Given the description of an element on the screen output the (x, y) to click on. 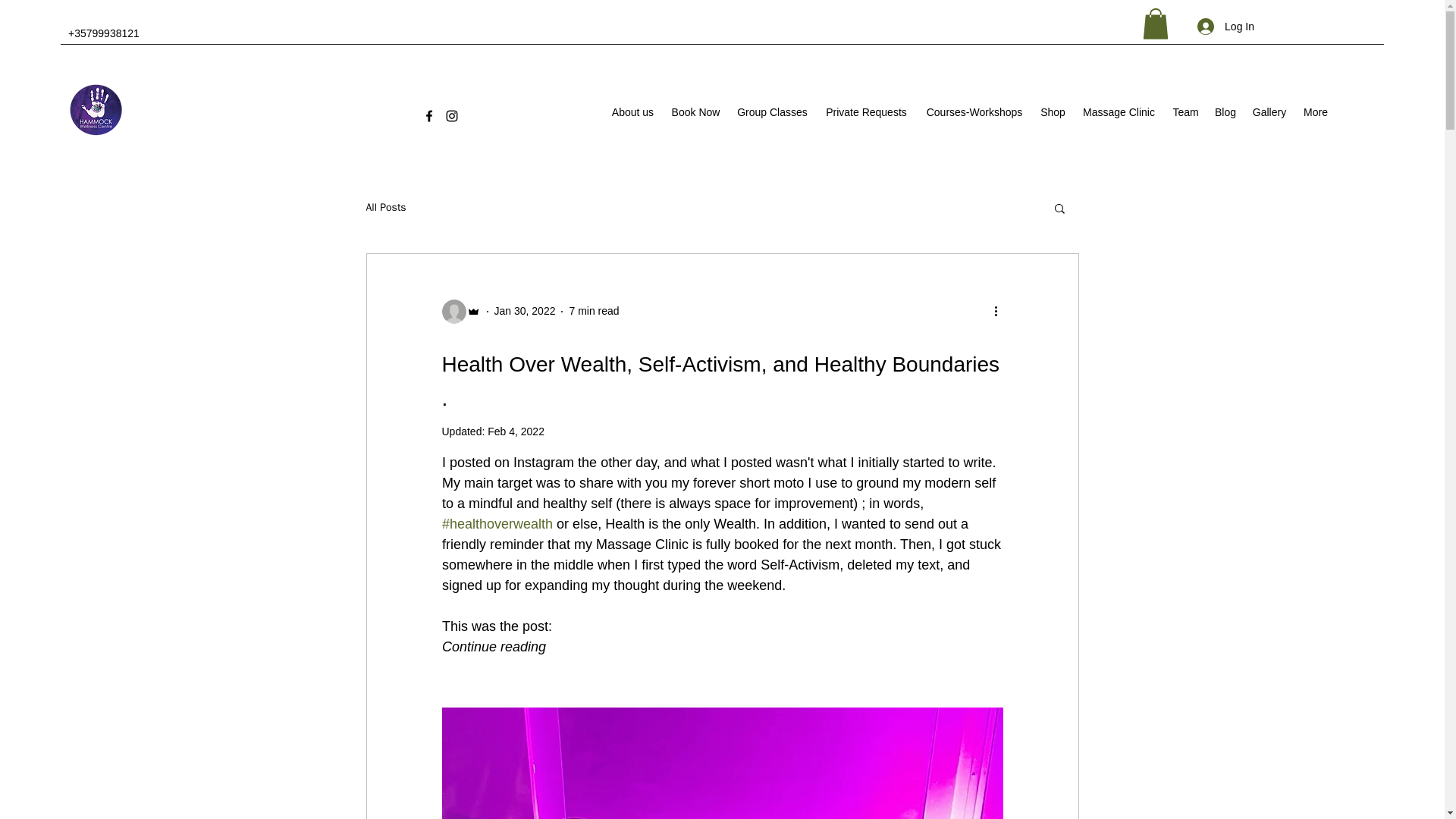
7 min read (593, 310)
Group Classes (771, 111)
Gallery (1268, 111)
Book Now (695, 111)
Shop (1053, 111)
Feb 4, 2022 (515, 431)
Private Requests (865, 111)
Team (1185, 111)
Blog (1225, 111)
Courses-Workshops (973, 111)
